Given the description of an element on the screen output the (x, y) to click on. 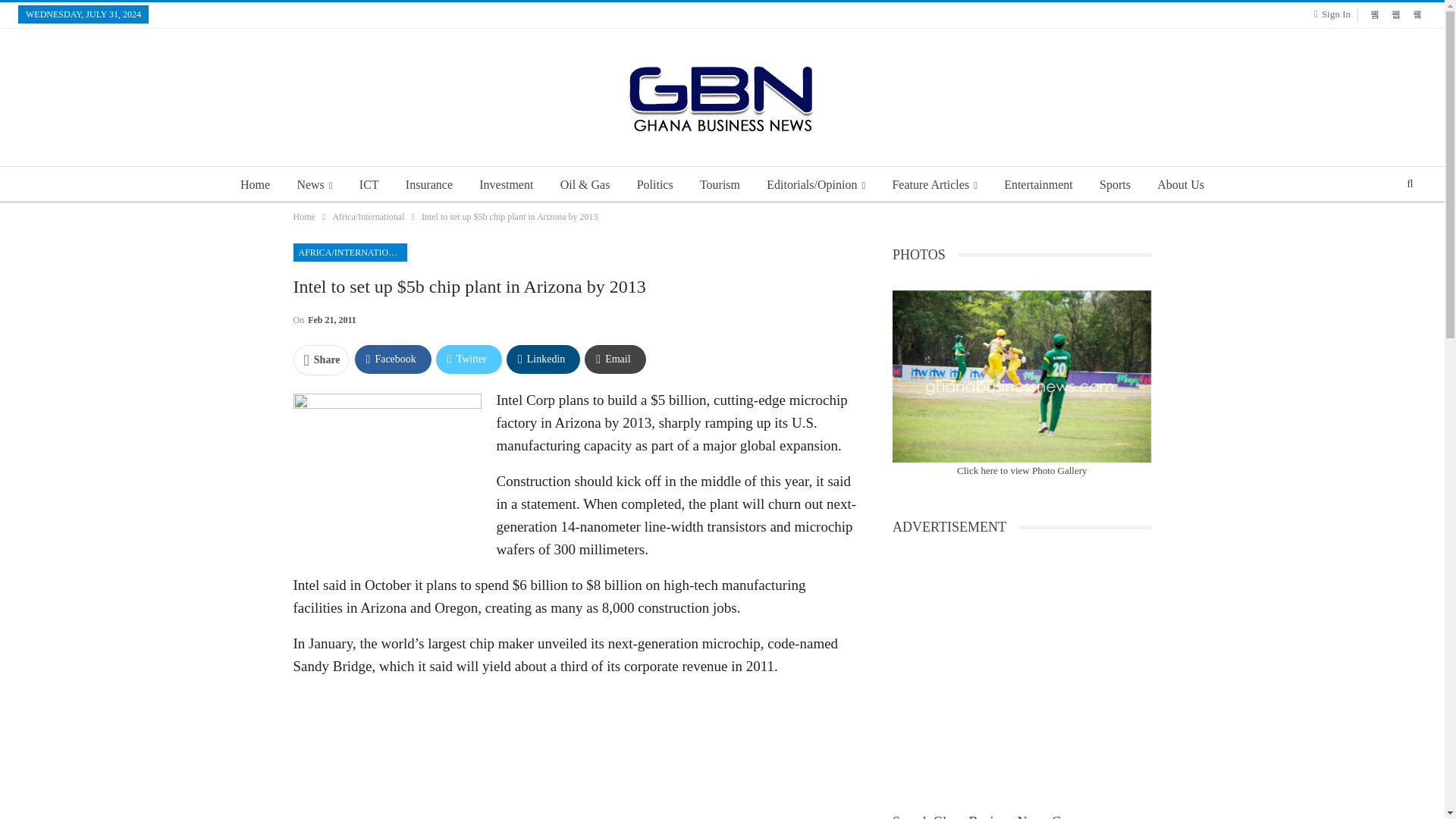
Investment (505, 185)
Insurance (428, 185)
Email (615, 358)
About Us (1180, 185)
Home (303, 216)
Entertainment (1037, 185)
Sports (1115, 185)
News (313, 185)
Politics (654, 185)
intel (386, 472)
13th-African-games-156 (1021, 376)
Home (255, 185)
Sign In (1335, 13)
Linkedin (542, 358)
Twitter (468, 358)
